Given the description of an element on the screen output the (x, y) to click on. 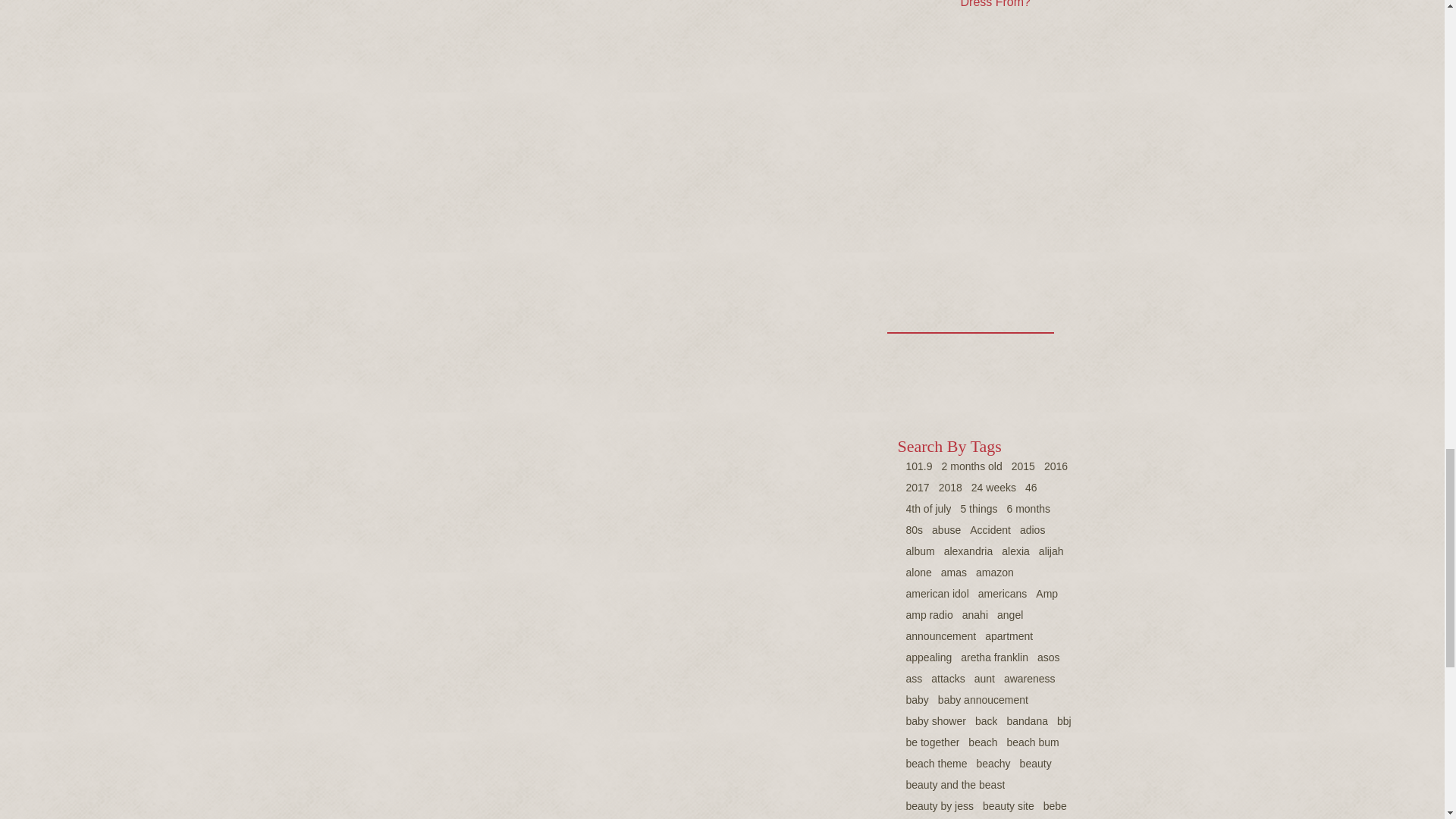
46 (1030, 487)
2 months old (972, 466)
101.9 (918, 466)
5 things (978, 508)
2017 (916, 487)
2016 (1055, 466)
6 months (1027, 508)
2018 (950, 487)
4th of july (927, 508)
2015 (1023, 466)
